Given the description of an element on the screen output the (x, y) to click on. 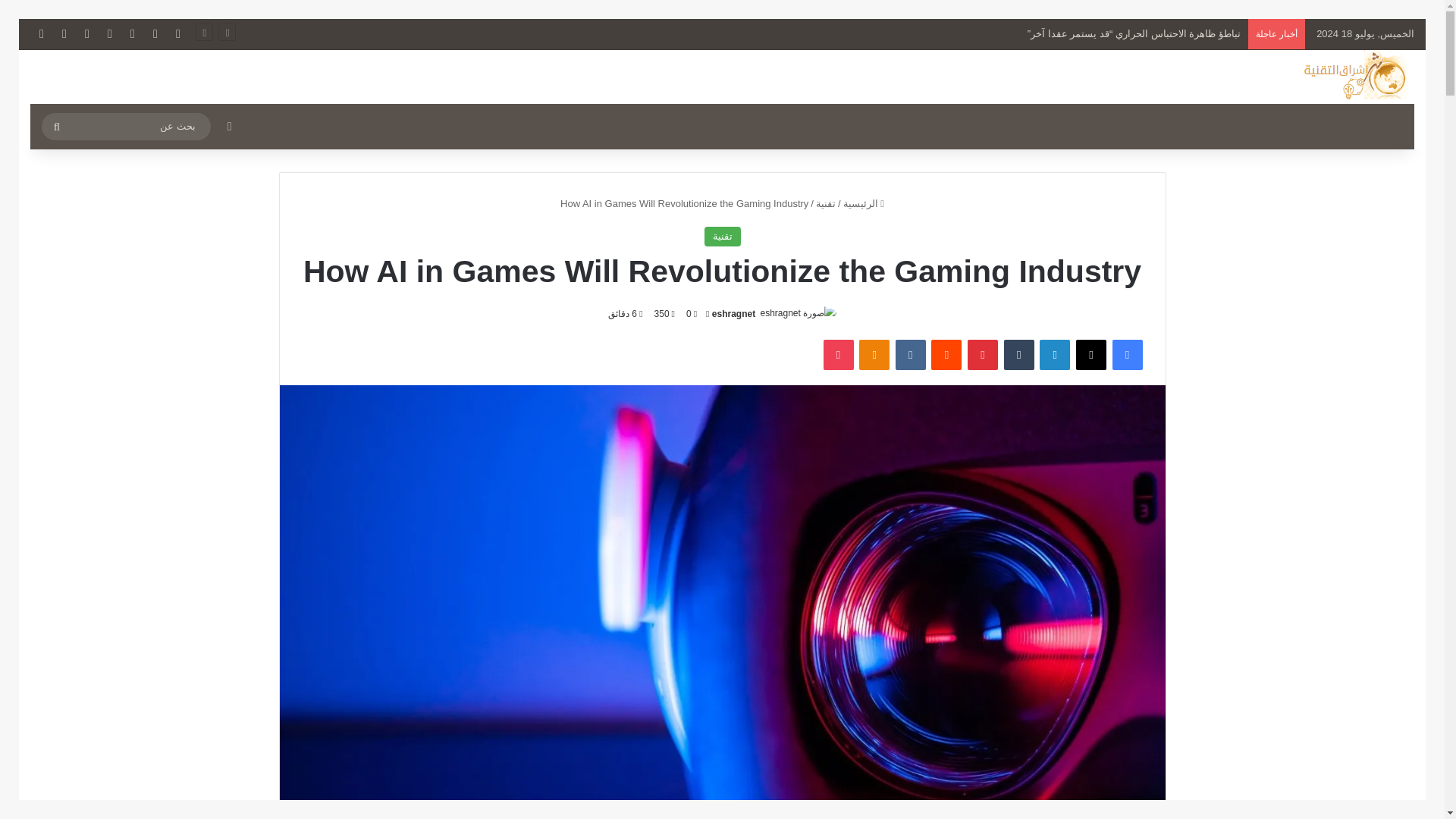
Odnoklassniki (874, 354)
VKontakte (910, 354)
eshragnet (733, 313)
eshragnet (733, 313)
Odnoklassniki (874, 354)
Reddit (945, 354)
X (1090, 354)
X (1090, 354)
Tumblr (1018, 354)
X (155, 33)
